Given the description of an element on the screen output the (x, y) to click on. 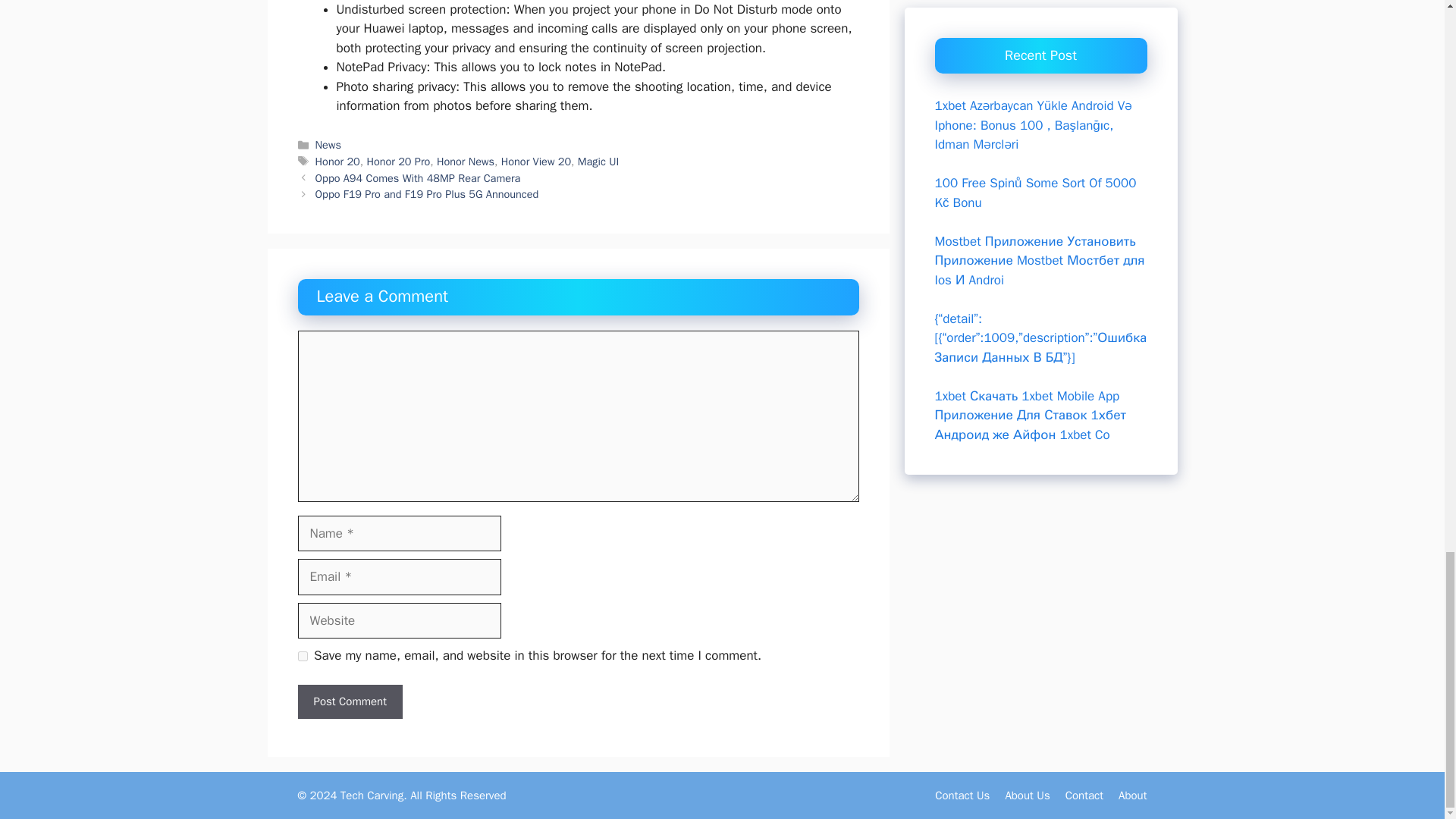
Honor News (465, 161)
News (327, 144)
Post Comment (349, 701)
Oppo F19 Pro and F19 Pro Plus 5G Announced (426, 193)
Oppo A94 Comes With 48MP Rear Camera (418, 178)
Magic UI (599, 161)
Honor 20 (337, 161)
Post Comment (349, 701)
Honor 20 Pro (397, 161)
yes (302, 655)
Honor View 20 (535, 161)
